Given the description of an element on the screen output the (x, y) to click on. 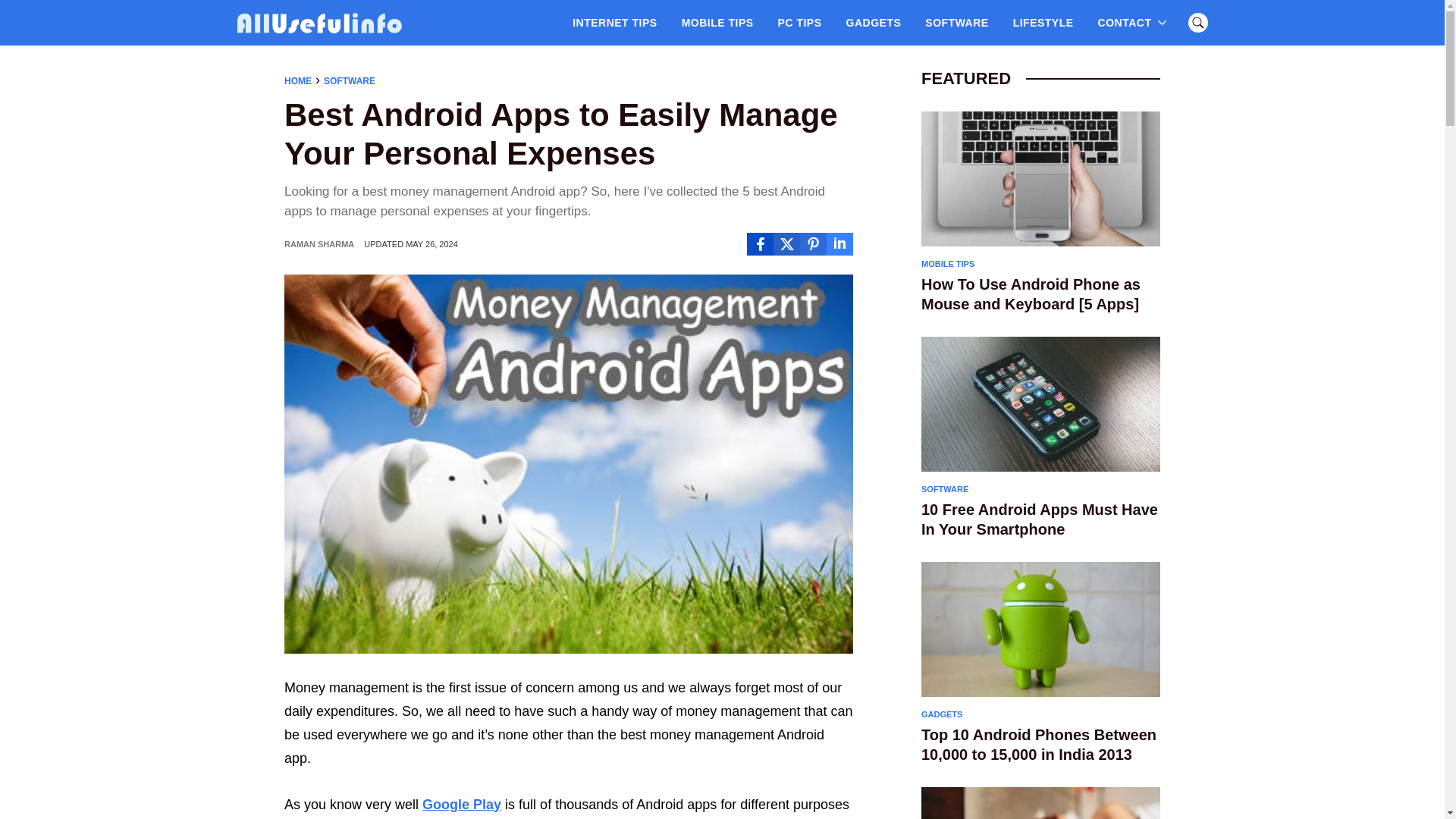
SOFTWARE (956, 22)
PC TIPS (799, 22)
10 Free Android Apps Must Have In Your Smartphone (1040, 518)
HOME (297, 81)
GADGETS (874, 22)
Top 10 Android Phones Between 10,000 to 15,000 in India 2013 (1040, 744)
MOBILE TIPS (717, 22)
CONTACT (1124, 22)
Google Play (461, 803)
LIFESTYLE (1043, 22)
Posts by Raman Sharma (318, 243)
SOFTWARE (349, 81)
INTERNET TIPS (614, 22)
RAMAN SHARMA (318, 243)
